Given the description of an element on the screen output the (x, y) to click on. 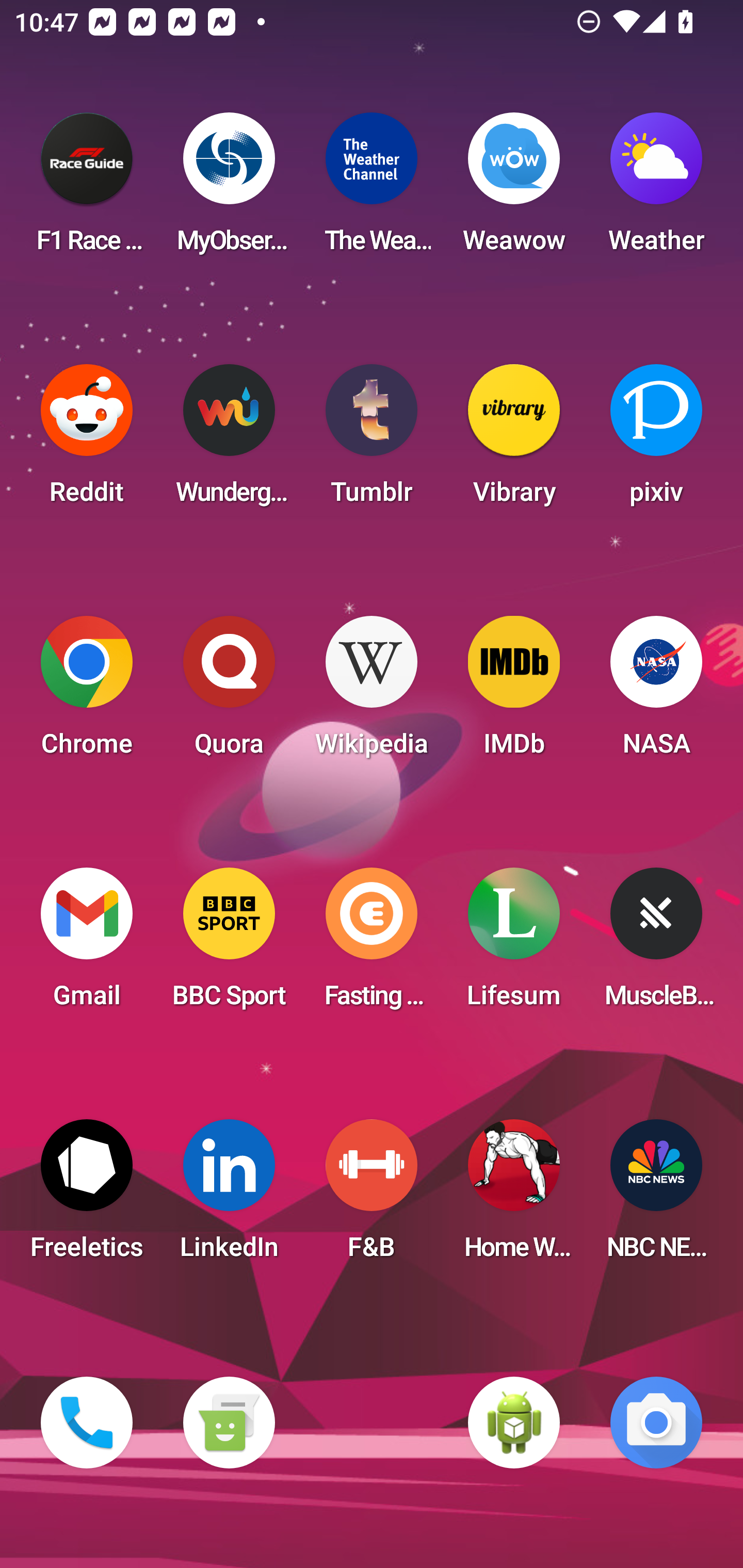
F1 Race Guide (86, 188)
MyObservatory (228, 188)
The Weather Channel (371, 188)
Weawow (513, 188)
Weather (656, 188)
Reddit (86, 440)
Wunderground (228, 440)
Tumblr (371, 440)
Vibrary (513, 440)
pixiv (656, 440)
Chrome (86, 692)
Quora (228, 692)
Wikipedia (371, 692)
IMDb (513, 692)
NASA (656, 692)
Gmail (86, 943)
BBC Sport (228, 943)
Fasting Coach (371, 943)
Lifesum (513, 943)
MuscleBooster (656, 943)
Freeletics (86, 1195)
LinkedIn (228, 1195)
F&B (371, 1195)
Home Workout (513, 1195)
NBC NEWS (656, 1195)
Phone (86, 1422)
Messaging (228, 1422)
WebView Browser Tester (513, 1422)
Camera (656, 1422)
